Given the description of an element on the screen output the (x, y) to click on. 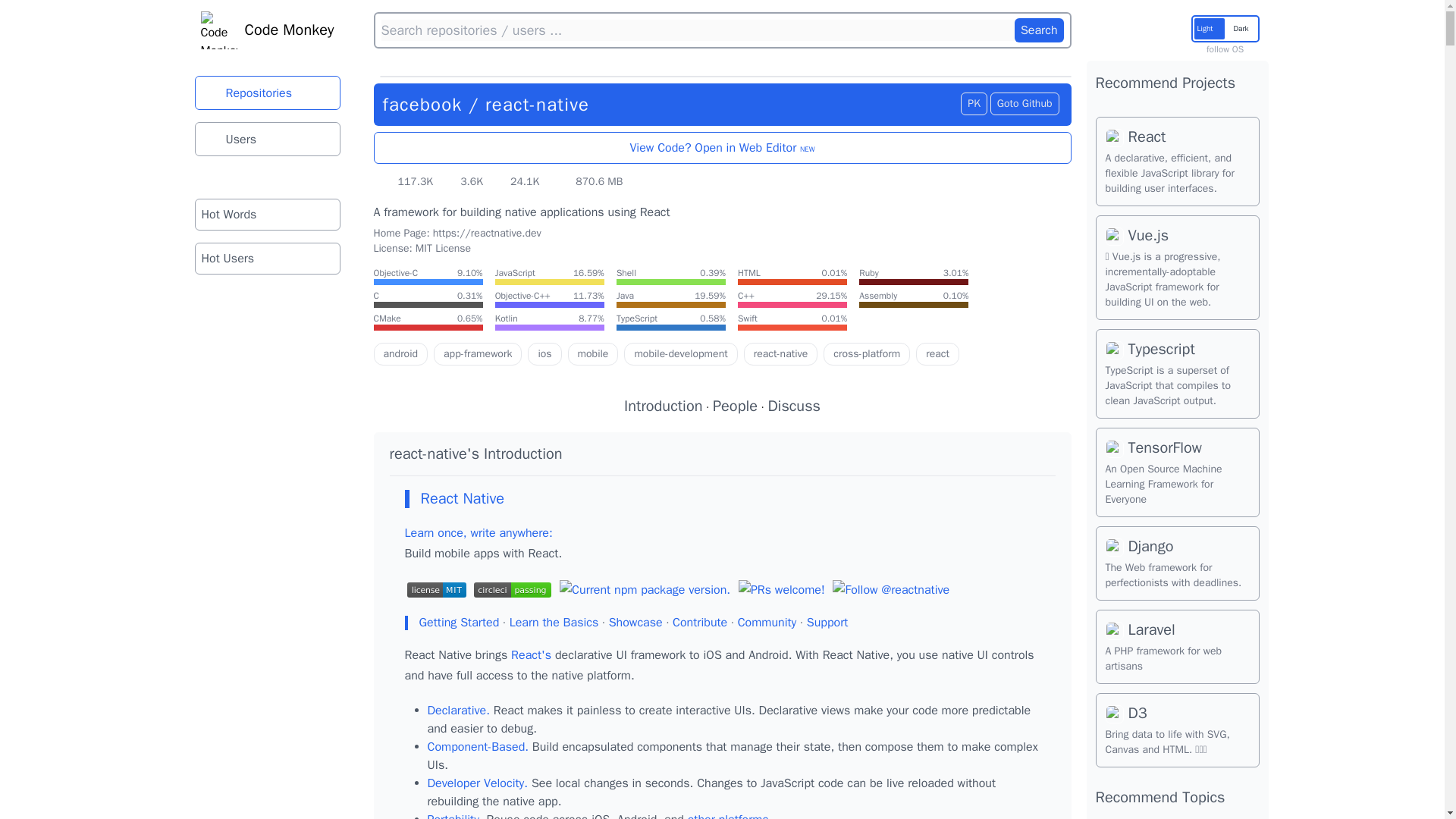
Community (767, 622)
117.3K (406, 181)
facebook (421, 104)
Showcase (635, 622)
react-native (781, 354)
react-native (536, 104)
Hot Words (266, 214)
Learn the Basics (553, 622)
mobile-development (680, 354)
Hot Users (266, 258)
Goto Github (1024, 103)
react (937, 354)
mobile (592, 354)
Users (266, 139)
Discuss (794, 405)
